Given the description of an element on the screen output the (x, y) to click on. 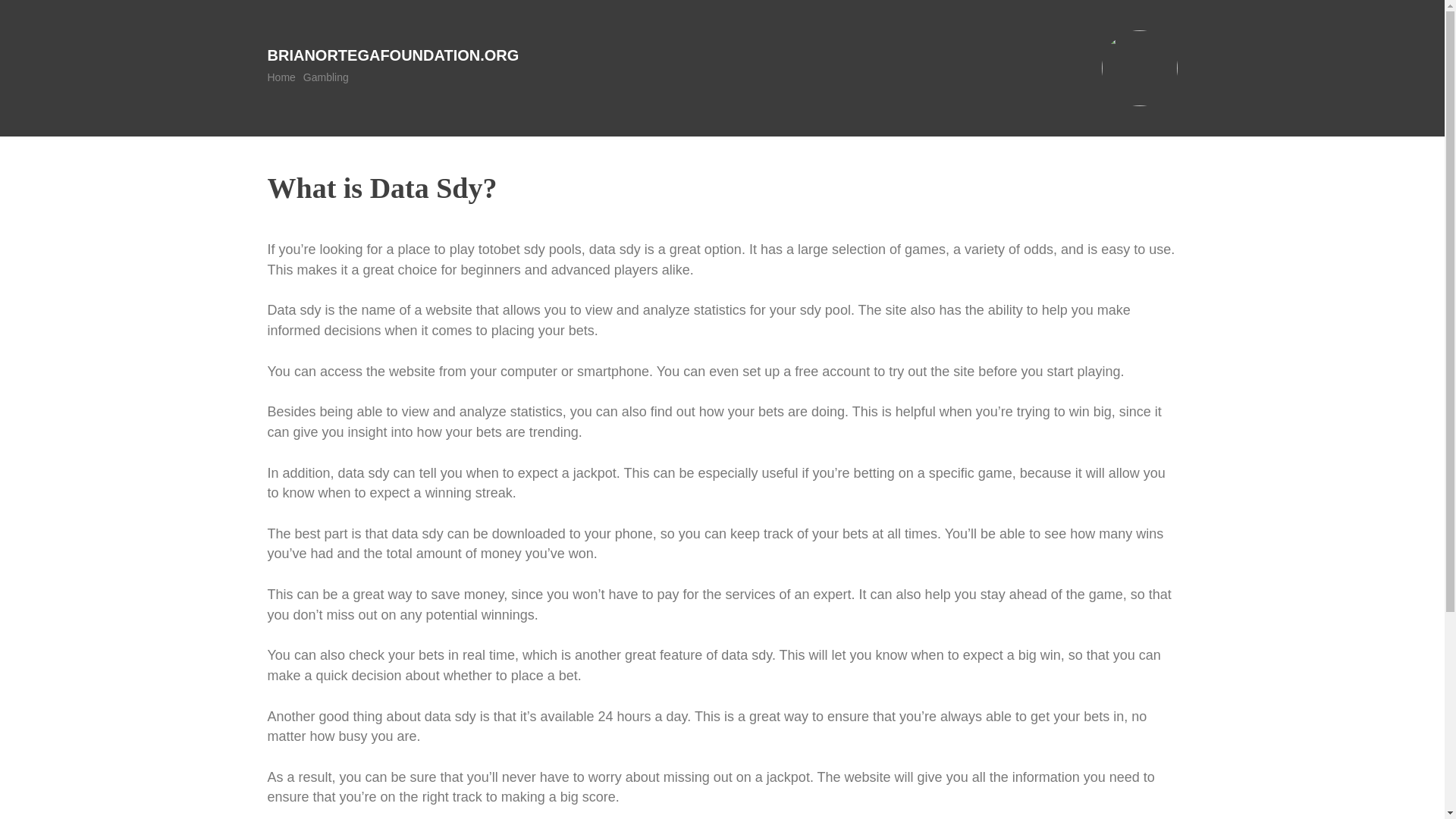
Brianortegafoundation.org (392, 54)
Gambling (325, 77)
Home (280, 77)
BRIANORTEGAFOUNDATION.ORG (392, 54)
